Given the description of an element on the screen output the (x, y) to click on. 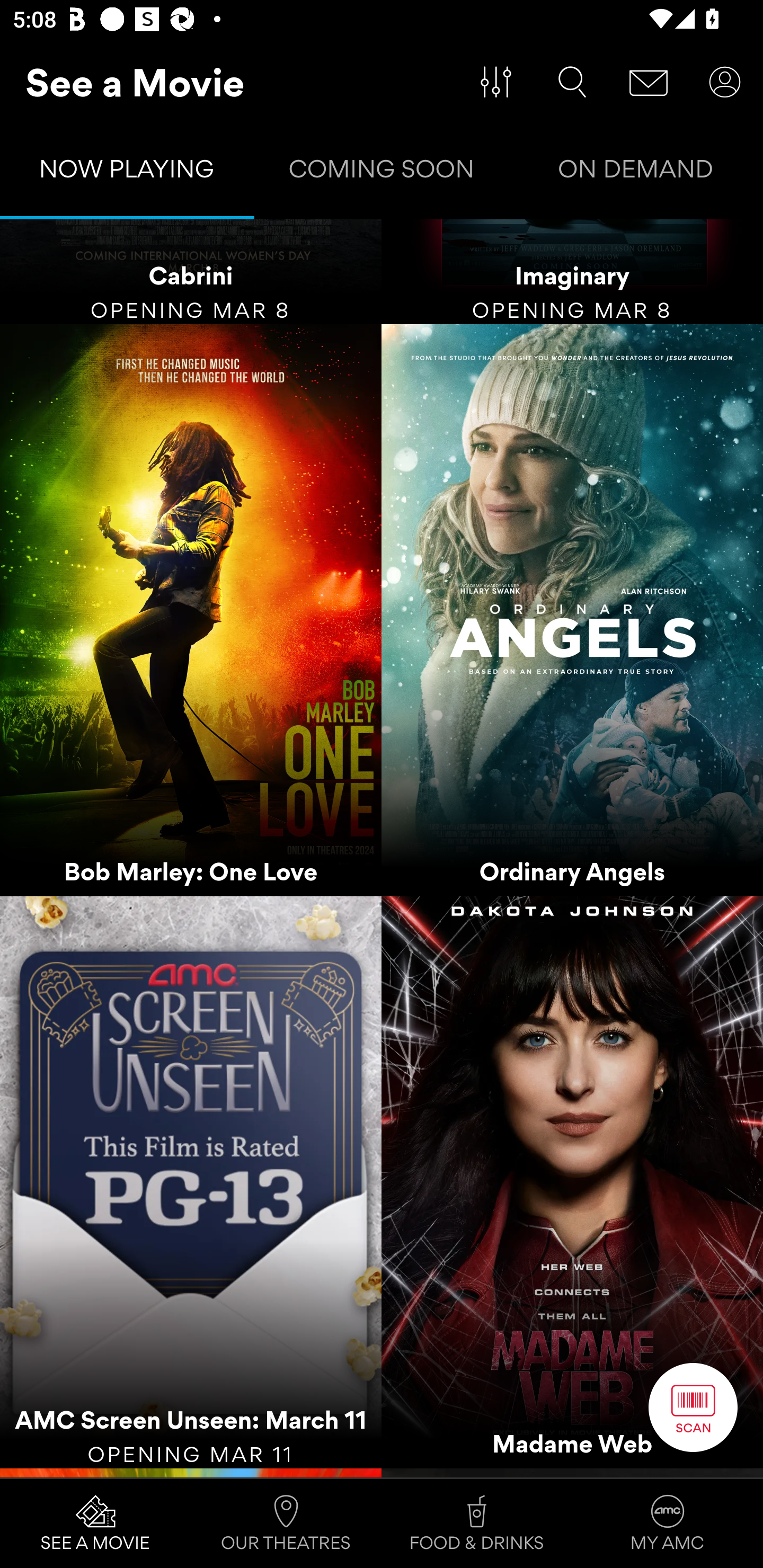
Filter Movies (495, 82)
Search (572, 82)
Message Center (648, 82)
User Account (724, 82)
NOW PLAYING
Tab 1 of 3 (127, 173)
COMING SOON
Tab 2 of 3 (381, 173)
ON DEMAND
Tab 3 of 3 (635, 173)
Cabrini
OPENING MAR 8 (190, 271)
Imaginary
OPENING MAR 8 (572, 271)
Bob Marley: One Love (190, 610)
Ordinary Angels (572, 610)
AMC Screen Unseen: March 11
OPENING MAR 11 (190, 1181)
Madame Web (572, 1181)
Scan Button (692, 1406)
SEE A MOVIE
Tab 1 of 4 (95, 1523)
OUR THEATRES
Tab 2 of 4 (285, 1523)
FOOD & DRINKS
Tab 3 of 4 (476, 1523)
MY AMC
Tab 4 of 4 (667, 1523)
